Given the description of an element on the screen output the (x, y) to click on. 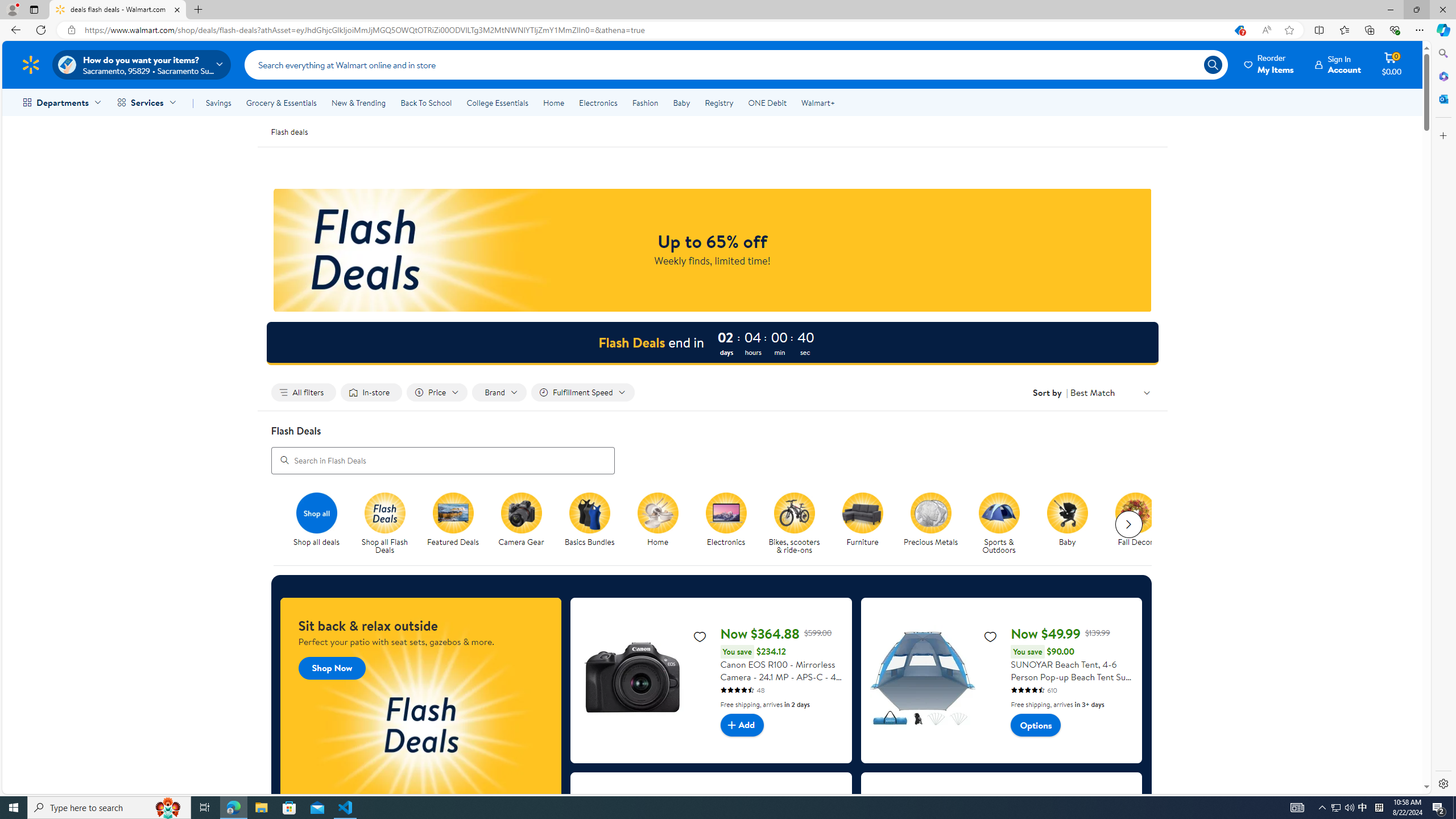
deals flash deals - Walmart.com (117, 9)
Up to 65% off Weekly finds, limited time! (712, 249)
Precious Metals (931, 512)
Shop Now (332, 667)
Sports & Outdoors Sports & Outdoors (999, 524)
Back To School (425, 102)
Fashion (644, 102)
Precious Metals (935, 524)
Baby Baby (1066, 519)
